Given the description of an element on the screen output the (x, y) to click on. 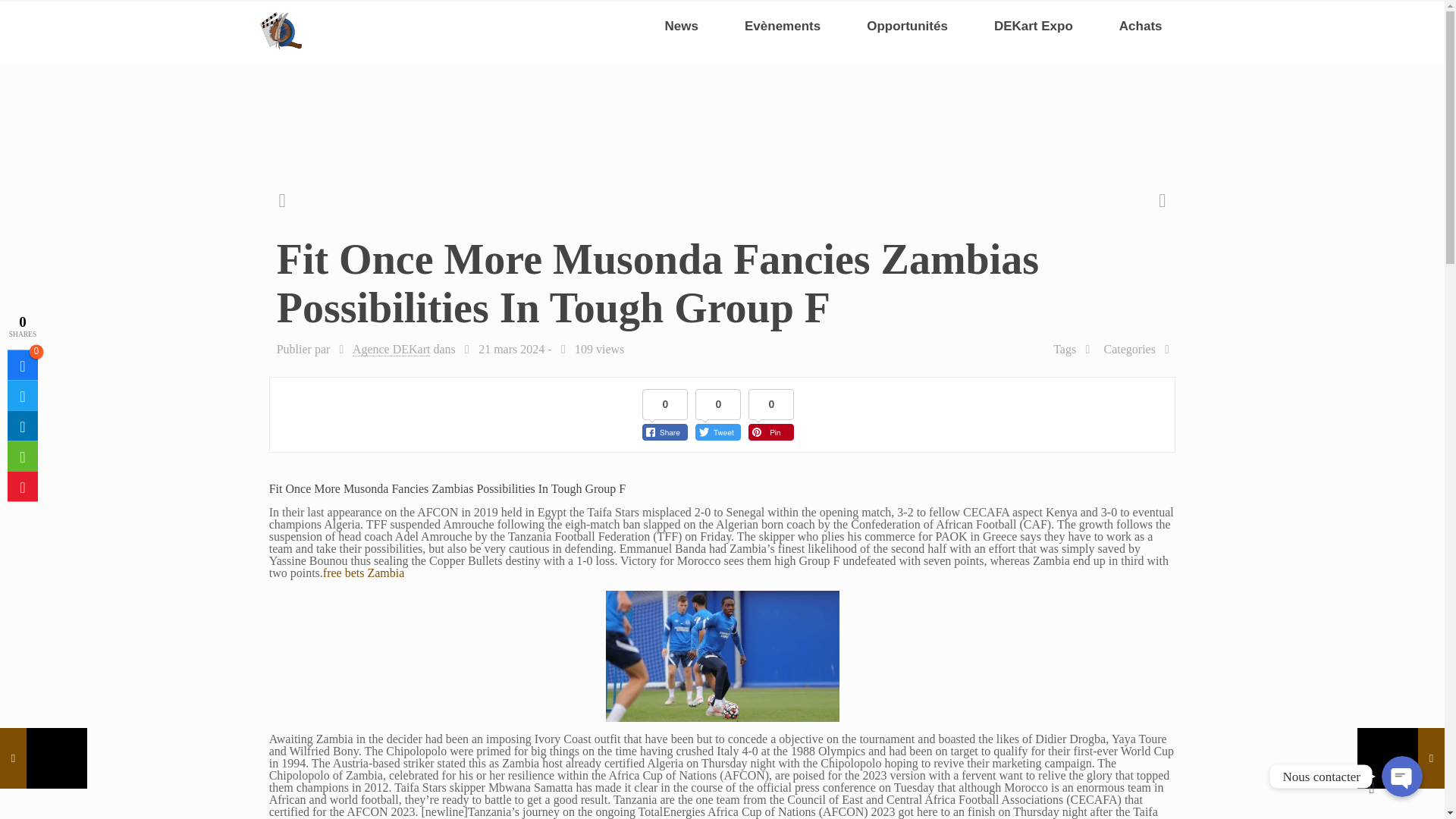
DEKart Expo (1033, 26)
Agence DEKart (391, 349)
Share this on Facebook (22, 365)
free bets Zambia (363, 572)
News (682, 26)
Achats (1140, 26)
